Given the description of an element on the screen output the (x, y) to click on. 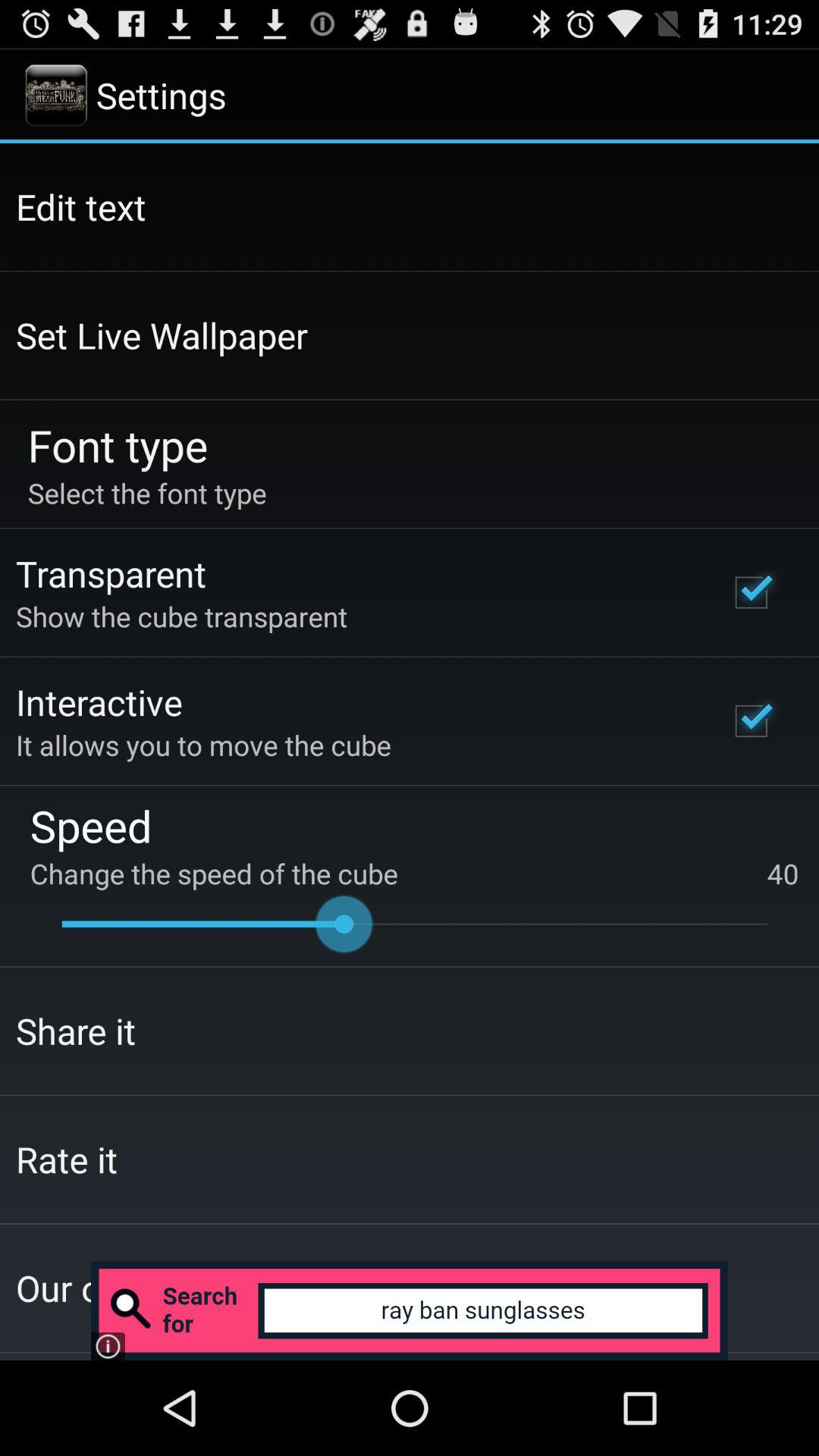
tap the app below rate it item (409, 1310)
